Given the description of an element on the screen output the (x, y) to click on. 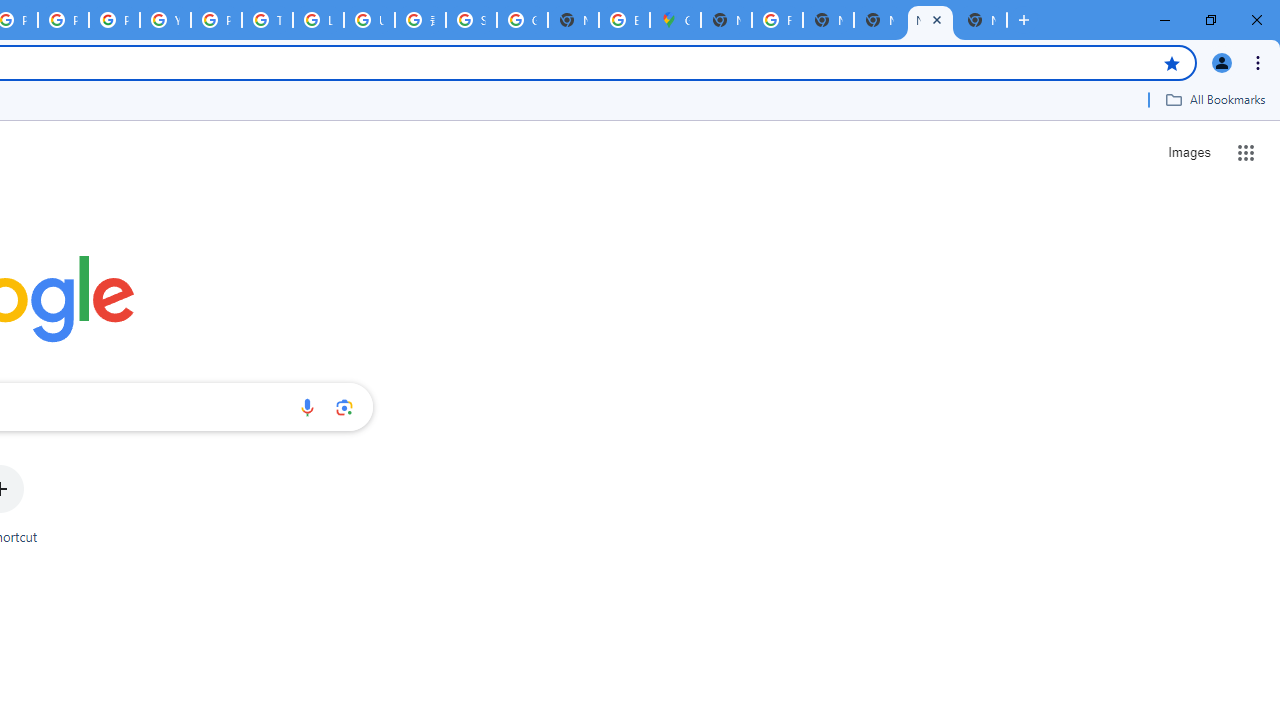
Sign in - Google Accounts (470, 20)
Tips & tricks for Chrome - Google Chrome Help (267, 20)
New Tab (726, 20)
Explore new street-level details - Google Maps Help (624, 20)
